Given the description of an element on the screen output the (x, y) to click on. 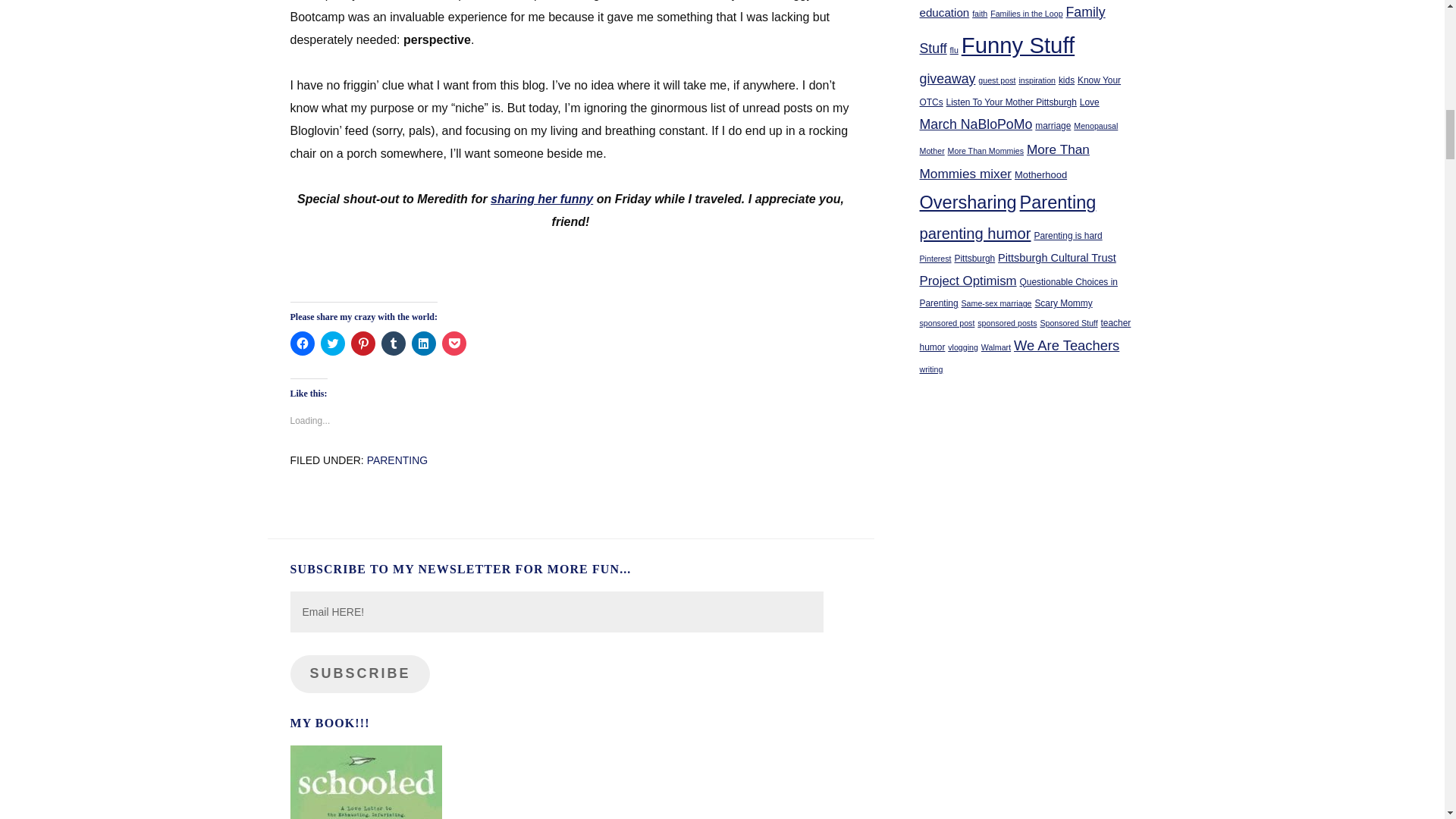
Click to share on Pinterest (362, 343)
Terrorized by Neon (541, 198)
Click to share on Pocket (453, 343)
Click to share on LinkedIn (422, 343)
Click to share on Facebook (301, 343)
sharing her funny (541, 198)
Click to share on Twitter (331, 343)
PARENTING (397, 460)
Click to share on Tumblr (392, 343)
SUBSCRIBE (359, 673)
